Given the description of an element on the screen output the (x, y) to click on. 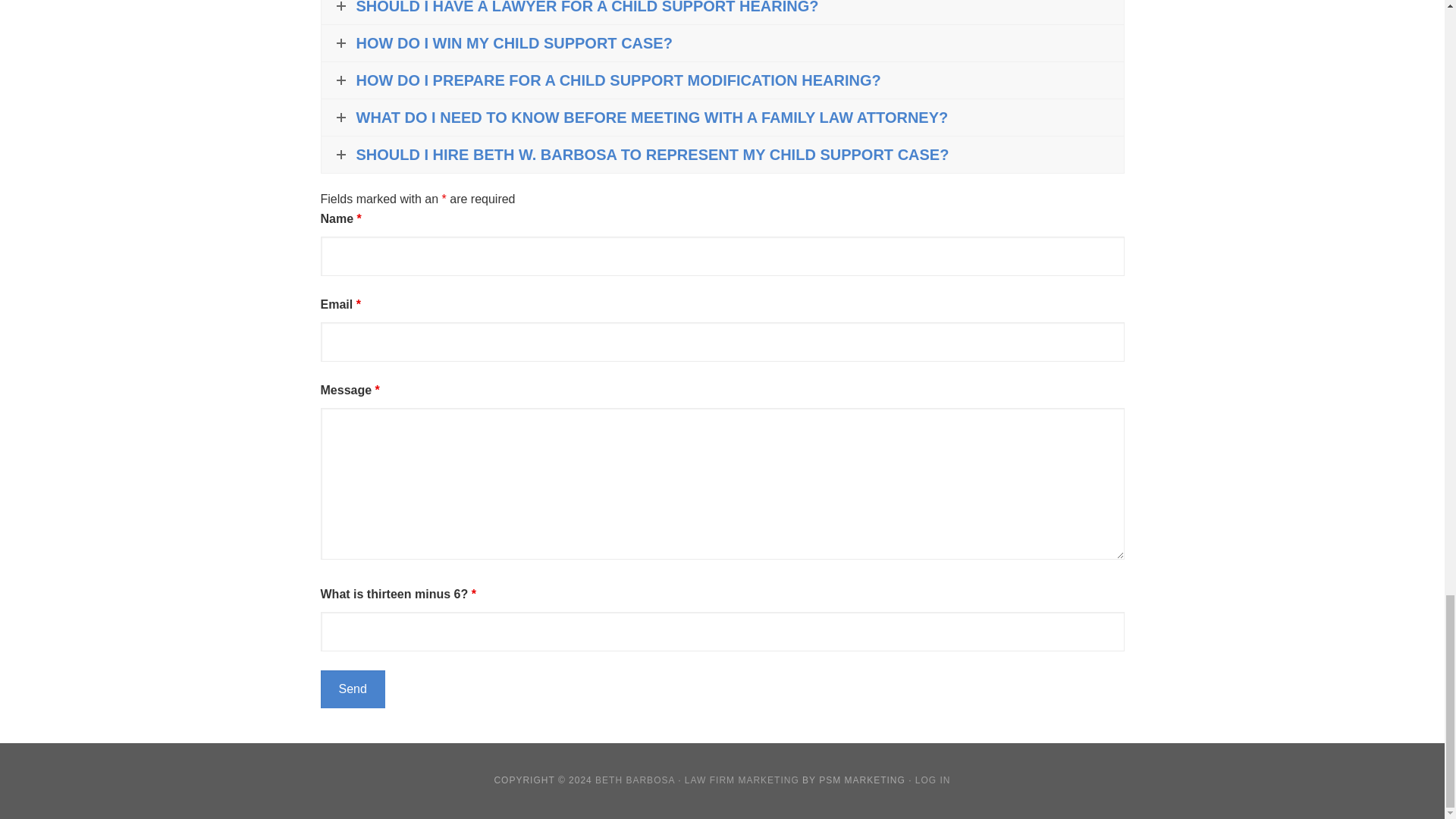
Send (352, 689)
HOW DO I WIN MY CHILD SUPPORT CASE? (722, 43)
HOW DO I PREPARE FOR A CHILD SUPPORT MODIFICATION HEARING? (722, 80)
Send (352, 689)
SHOULD I HAVE A LAWYER FOR A CHILD SUPPORT HEARING? (722, 12)
